Given the description of an element on the screen output the (x, y) to click on. 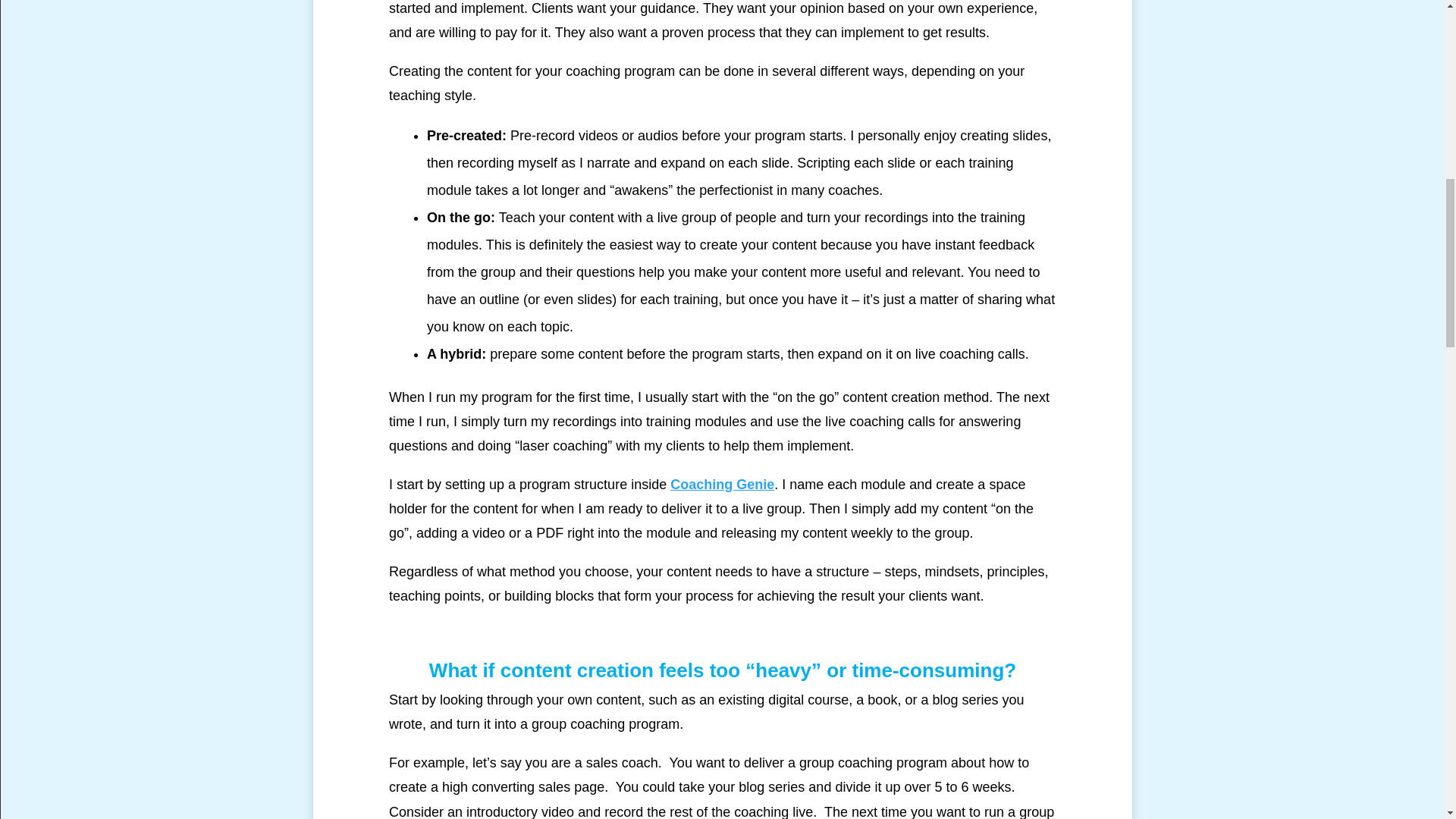
Coaching Genie (721, 484)
